Given the description of an element on the screen output the (x, y) to click on. 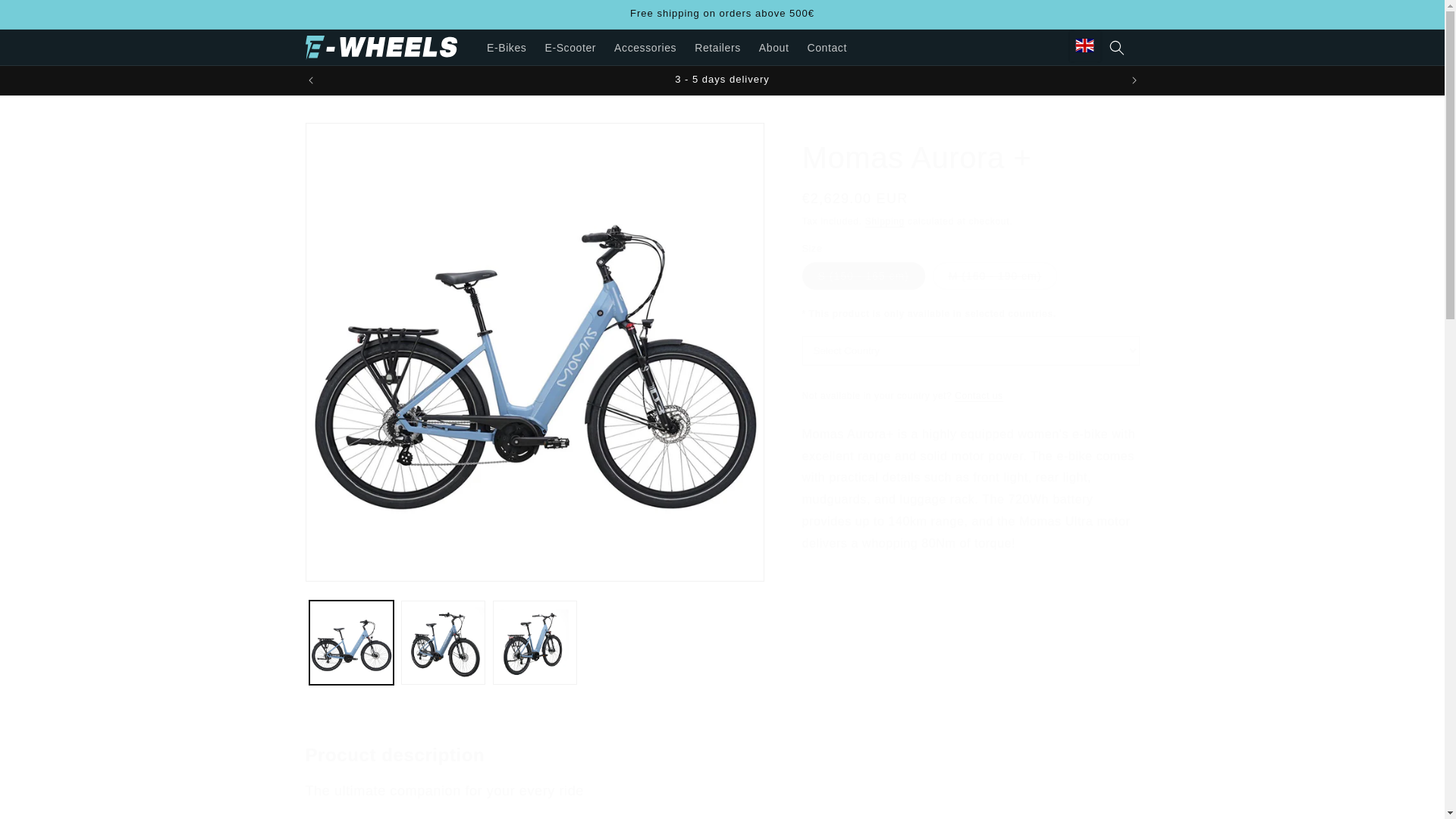
Procuct description (600, 754)
E-Bikes (506, 47)
Retailers (717, 47)
Skip to content (45, 17)
Accessories (645, 47)
Contact (826, 47)
Skip to product information (350, 140)
E-Scooter (570, 47)
About (773, 47)
